Given the description of an element on the screen output the (x, y) to click on. 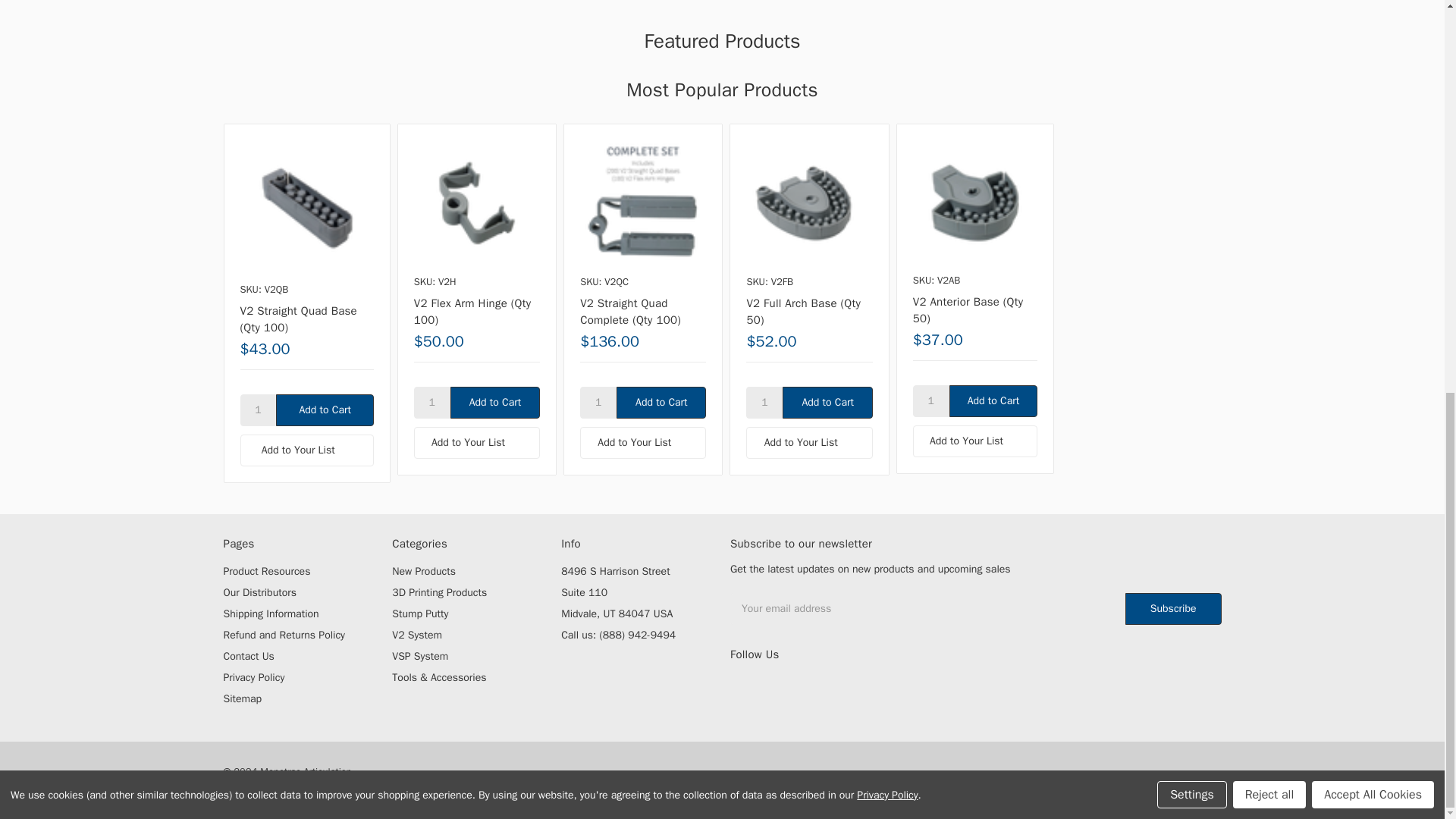
V2 Full Arch Base (808, 203)
Add to Your List (642, 442)
V2 Straight Quad Base (306, 206)
Add to Cart (324, 409)
Add to Cart (660, 402)
Add to Your List (306, 450)
1 (597, 402)
Add to Cart (324, 409)
Add to Your List (476, 442)
V2 Straight Quad Complete (642, 203)
